Given the description of an element on the screen output the (x, y) to click on. 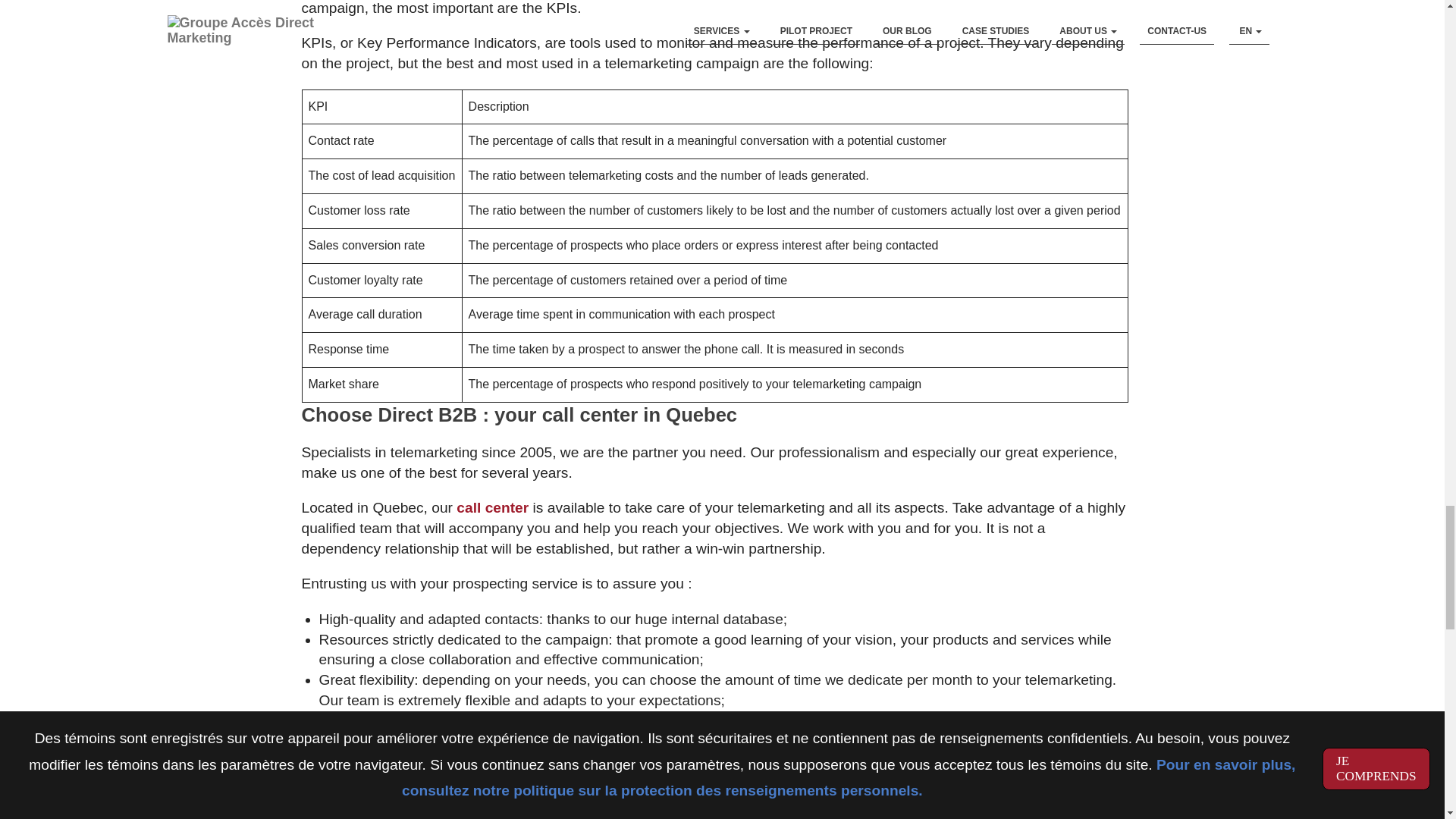
call center (492, 507)
